Given the description of an element on the screen output the (x, y) to click on. 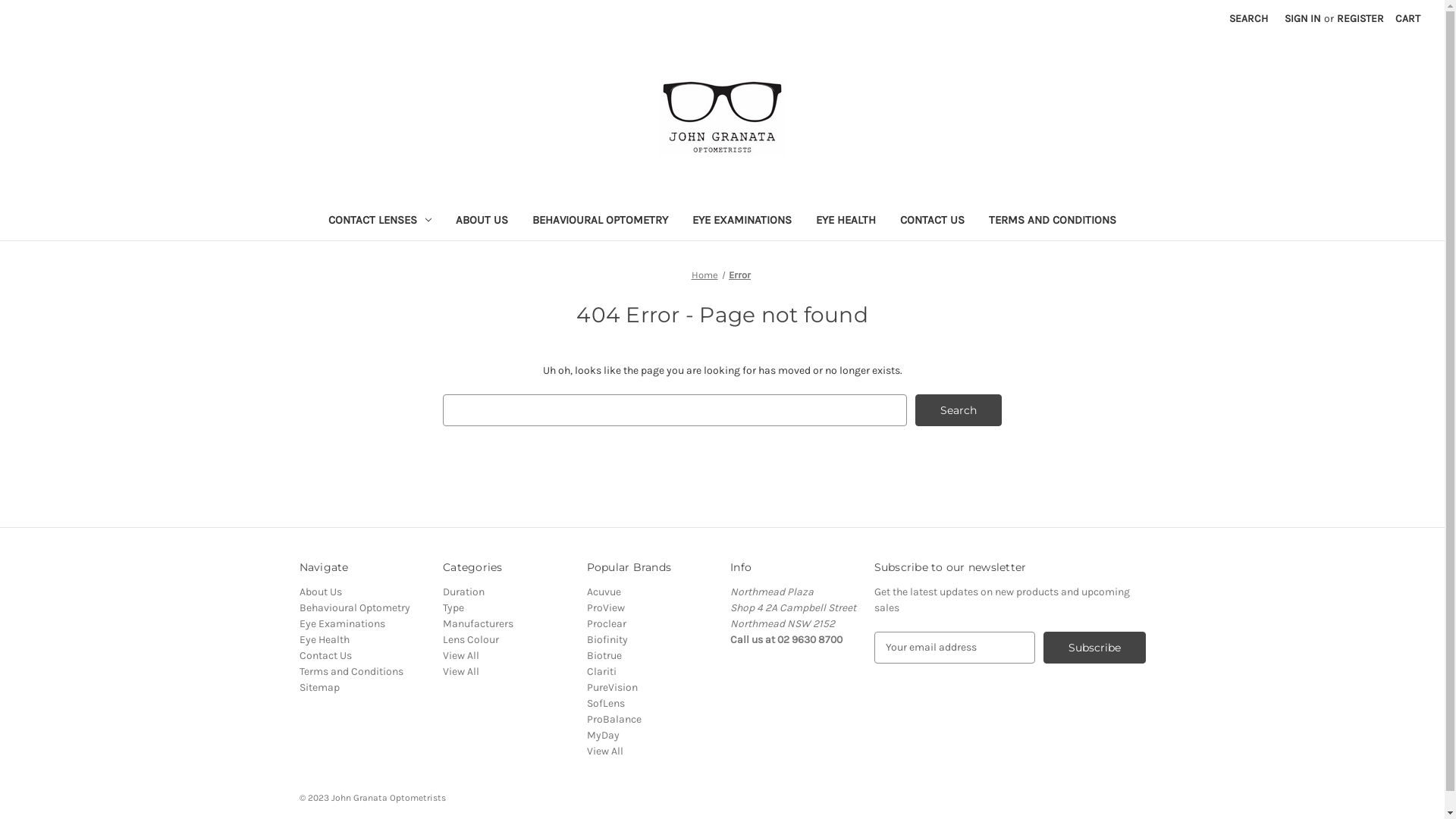
Behavioural Optometry Element type: text (353, 607)
CONTACT LENSES Element type: text (379, 221)
Subscribe Element type: text (1094, 647)
Sitemap Element type: text (318, 686)
Biofinity Element type: text (606, 639)
ProView Element type: text (605, 607)
View All Element type: text (460, 655)
View All Element type: text (460, 671)
CART Element type: text (1407, 18)
Error Element type: text (739, 274)
Clariti Element type: text (601, 671)
ProBalance Element type: text (613, 718)
Acuvue Element type: text (603, 591)
Lens Colour Element type: text (470, 639)
Contact Us Element type: text (324, 655)
Manufacturers Element type: text (477, 623)
EYE EXAMINATIONS Element type: text (741, 221)
MyDay Element type: text (602, 734)
SofLens Element type: text (605, 702)
BEHAVIOURAL OPTOMETRY Element type: text (600, 221)
About Us Element type: text (319, 591)
Duration Element type: text (463, 591)
EYE HEALTH Element type: text (845, 221)
Biotrue Element type: text (603, 655)
John Granata Optometrists Element type: hover (721, 117)
SIGN IN Element type: text (1302, 18)
CONTACT US Element type: text (932, 221)
Terms and Conditions Element type: text (350, 671)
Eye Examinations Element type: text (341, 623)
Home Element type: text (704, 274)
Type Element type: text (453, 607)
Eye Health Element type: text (323, 639)
Search Element type: text (958, 410)
PureVision Element type: text (611, 686)
REGISTER Element type: text (1360, 18)
Proclear Element type: text (606, 623)
SEARCH Element type: text (1248, 18)
View All Element type: text (604, 750)
TERMS AND CONDITIONS Element type: text (1052, 221)
ABOUT US Element type: text (481, 221)
